Given the description of an element on the screen output the (x, y) to click on. 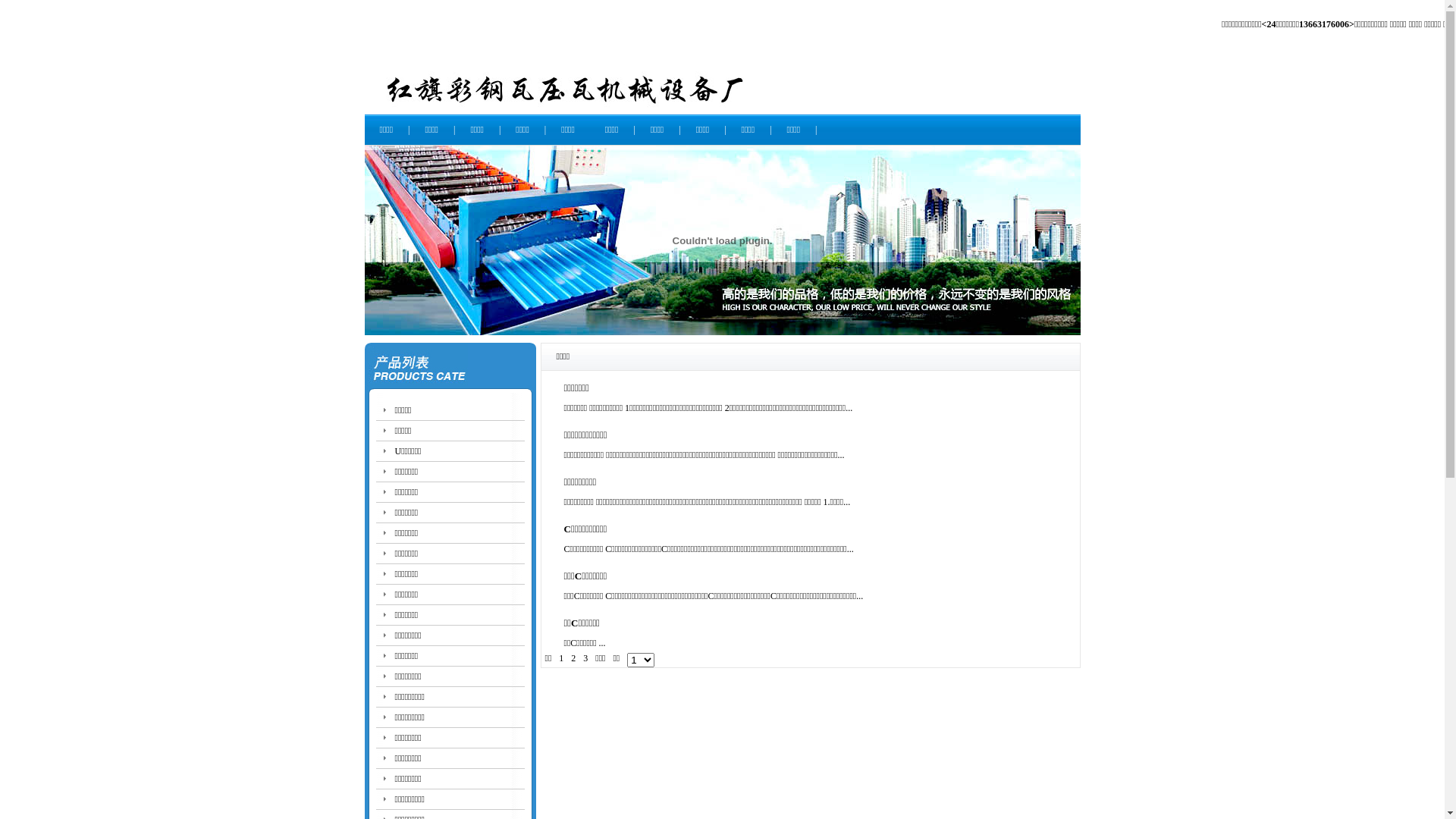
3 Element type: text (585, 657)
2 Element type: text (573, 657)
